Given the description of an element on the screen output the (x, y) to click on. 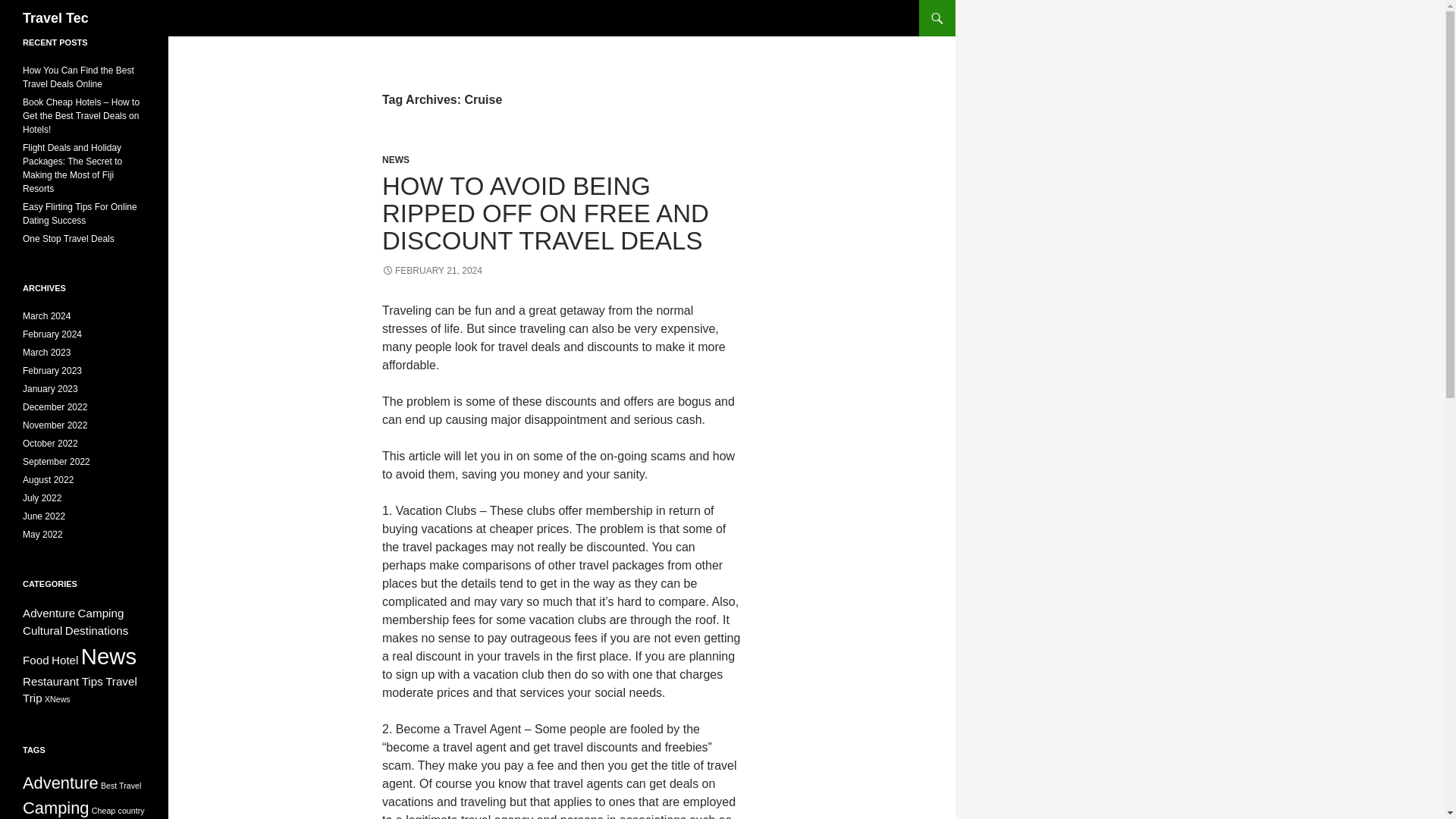
FEBRUARY 21, 2024 (431, 270)
Travel (120, 680)
Destinations (97, 630)
Easy Flirting Tips For Online Dating Success (79, 213)
January 2023 (50, 388)
November 2022 (55, 425)
July 2022 (42, 498)
June 2022 (44, 516)
NEWS (395, 159)
Restaurant (50, 680)
Hotel (64, 659)
March 2024 (46, 316)
How You Can Find the Best Travel Deals Online (78, 77)
February 2023 (52, 370)
